Given the description of an element on the screen output the (x, y) to click on. 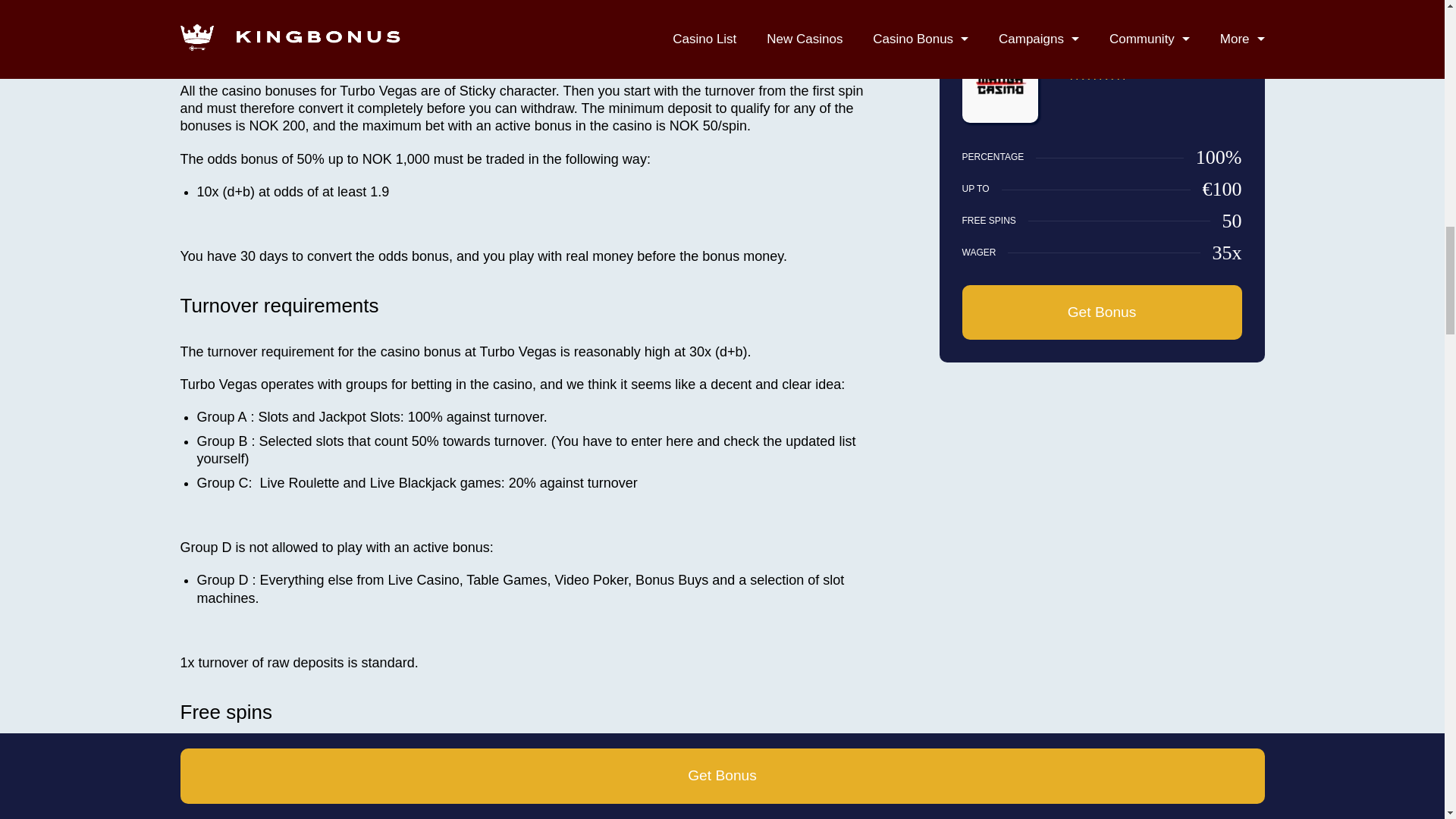
Go to Manga Casino (998, 119)
